Given the description of an element on the screen output the (x, y) to click on. 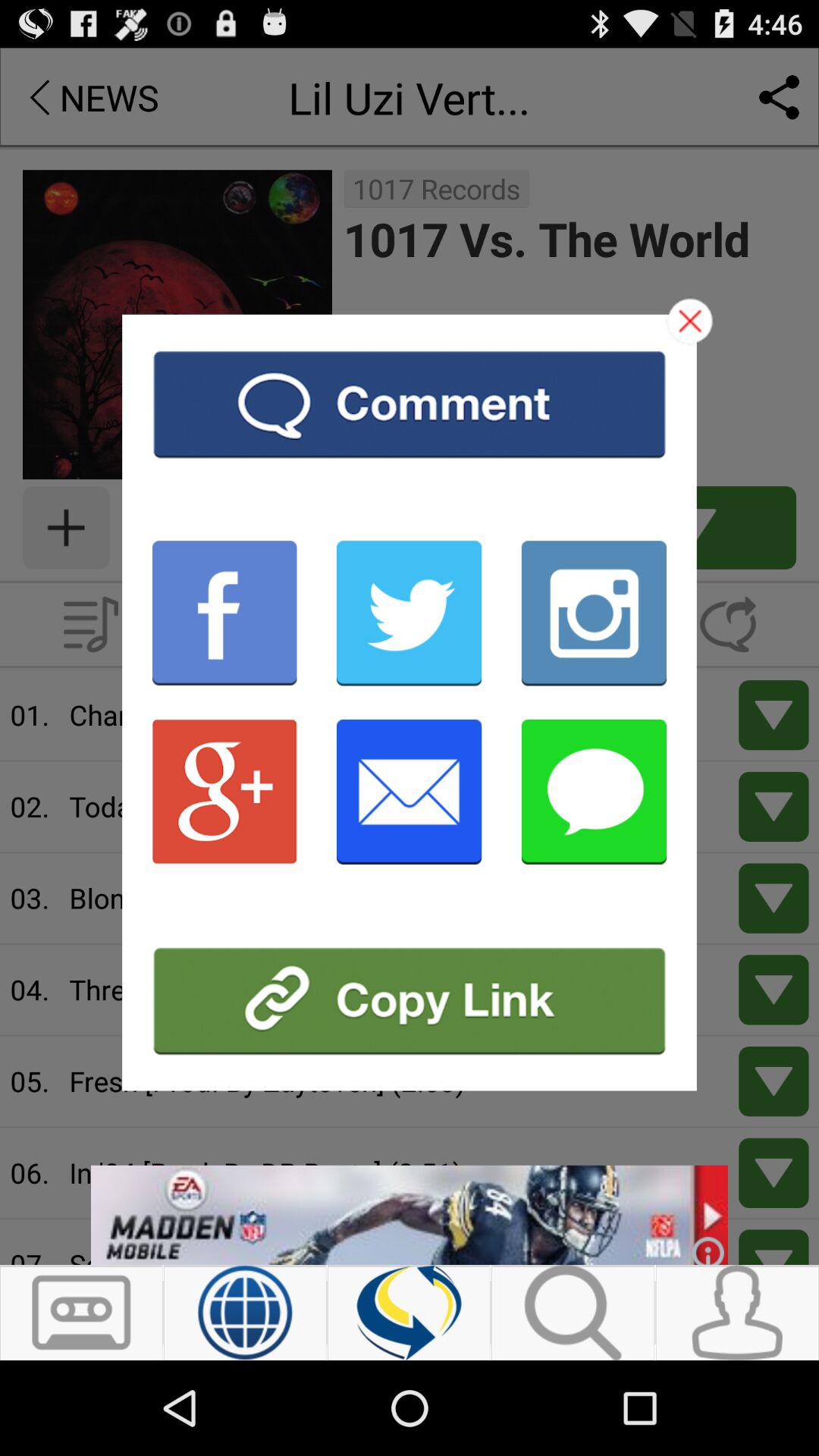
copy link address (409, 1000)
